Given the description of an element on the screen output the (x, y) to click on. 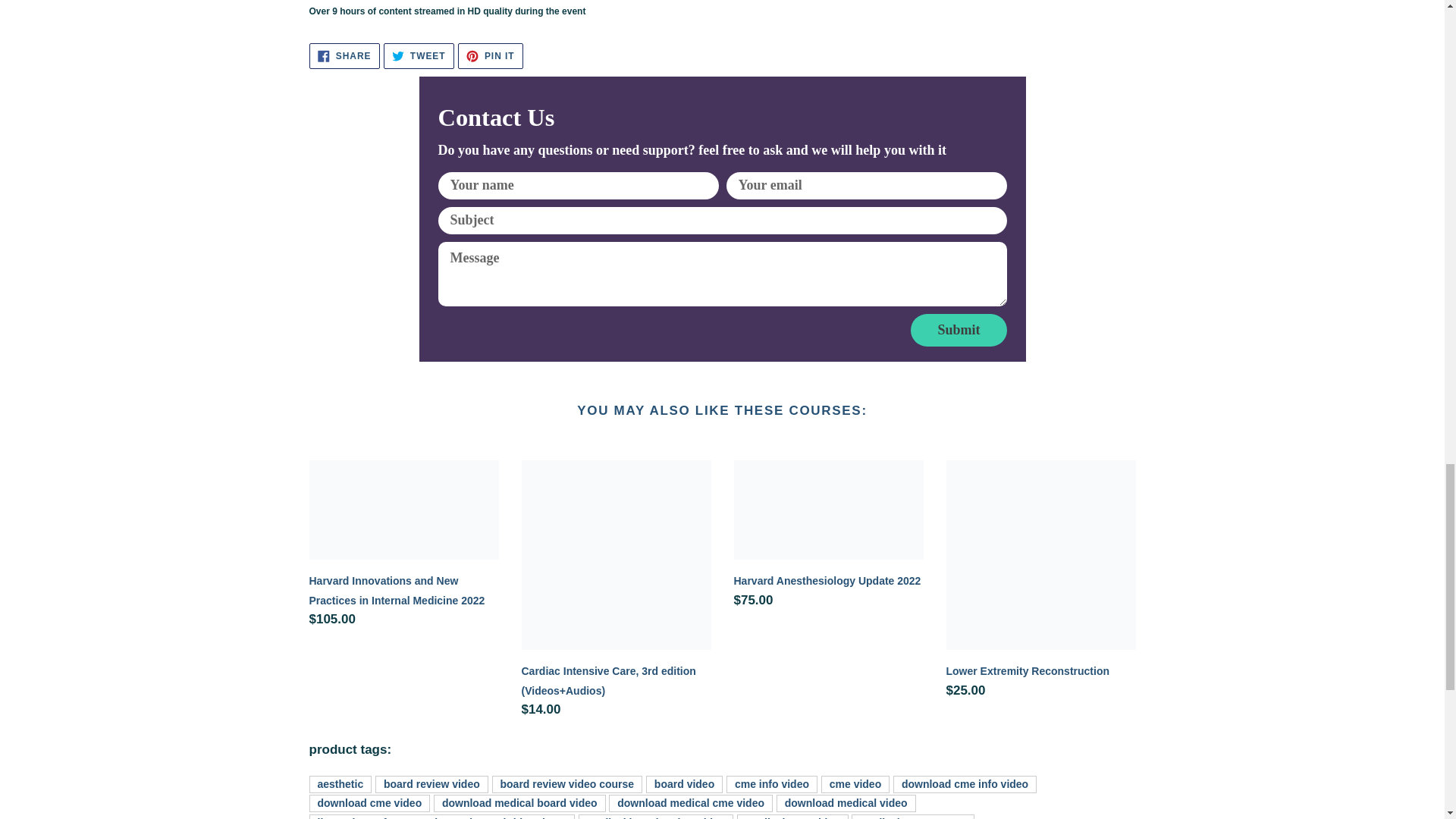
aesthetic (340, 784)
Submit (958, 329)
board review video course (344, 55)
board review video (490, 55)
board video (567, 784)
Harvard Anesthesiology Update 2022 (431, 784)
